Given the description of an element on the screen output the (x, y) to click on. 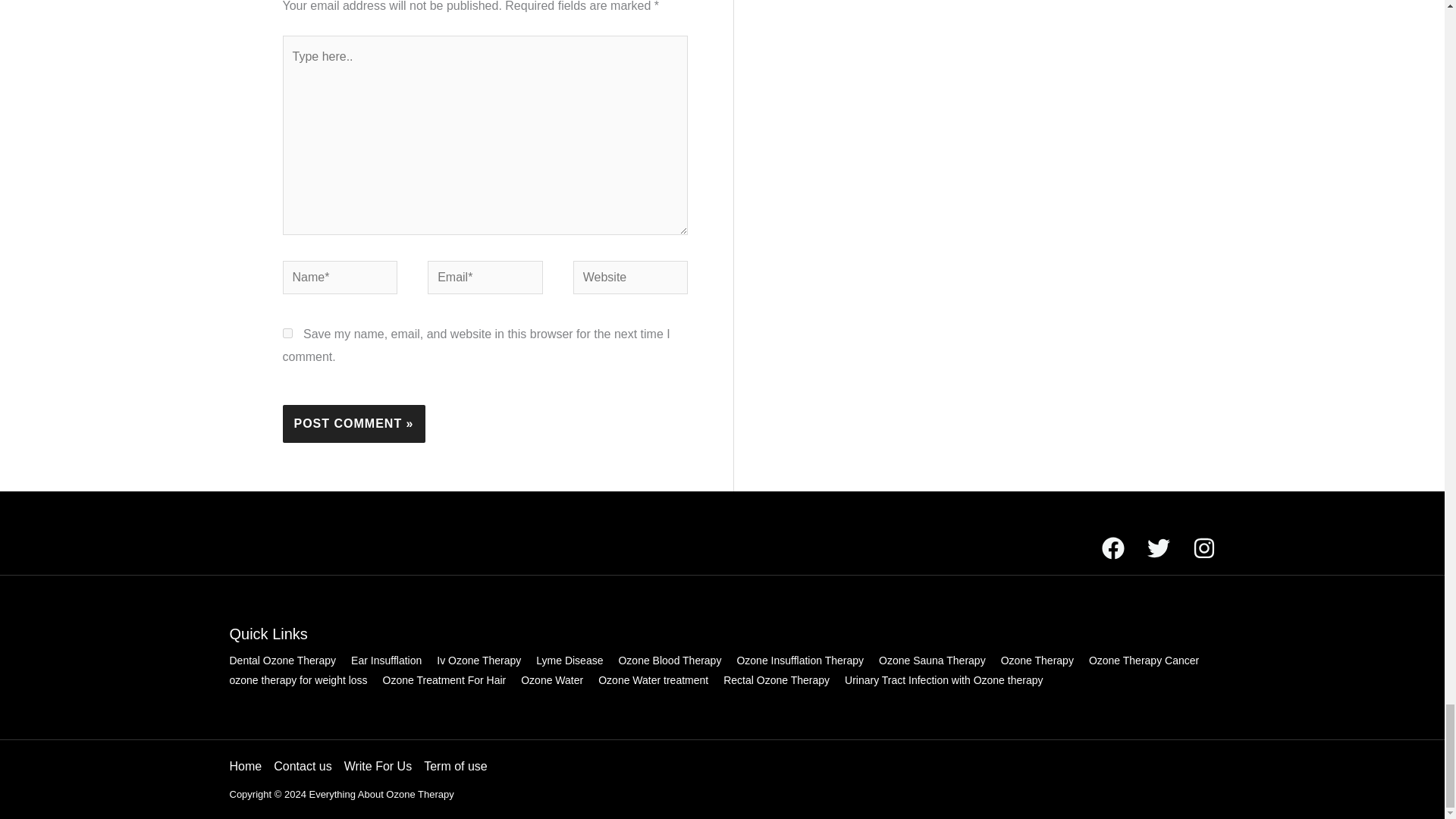
yes (287, 333)
